Given the description of an element on the screen output the (x, y) to click on. 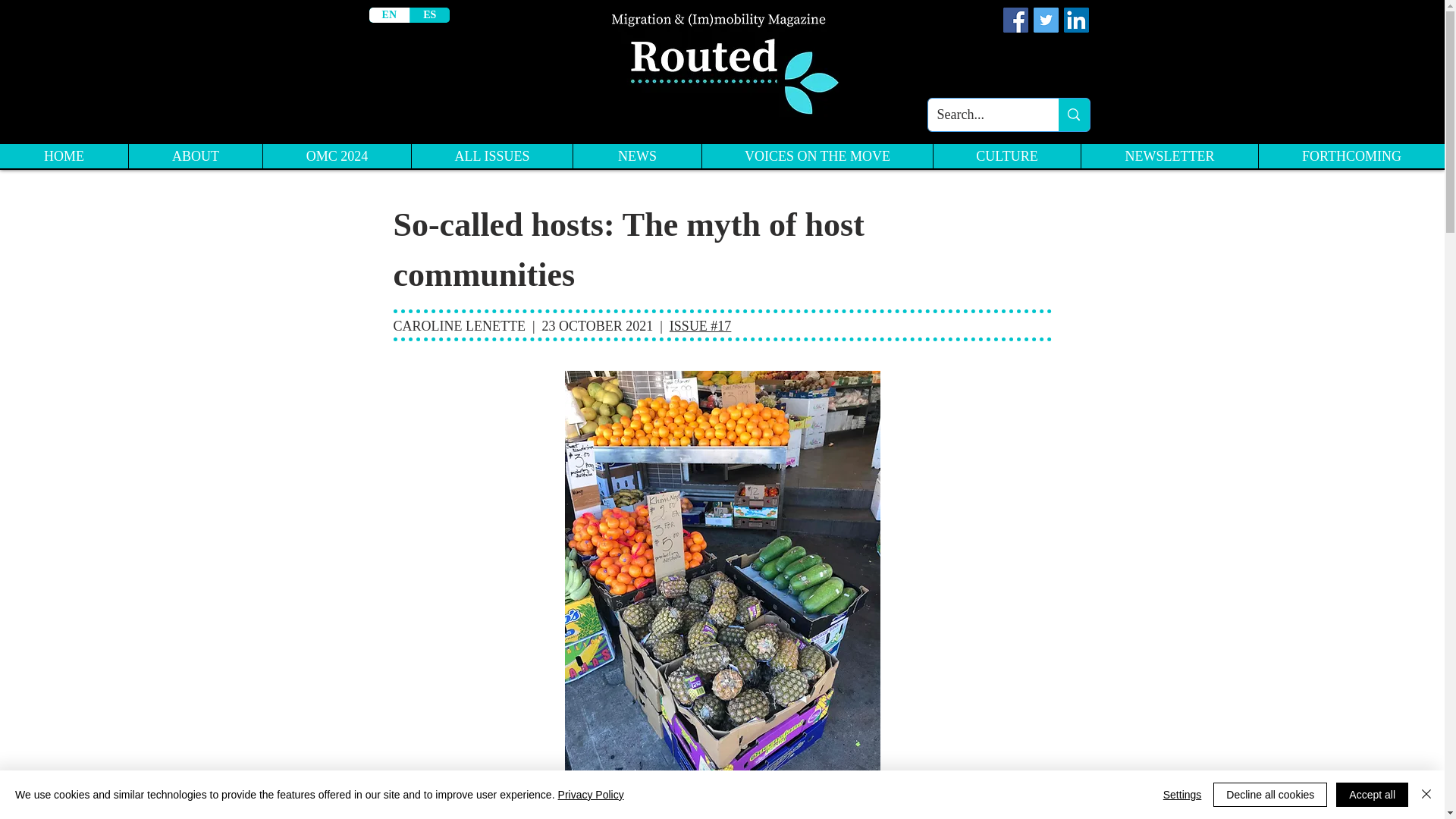
OMC 2024 (336, 156)
EN (388, 14)
CULTURE (1006, 156)
ES (428, 14)
HOME (64, 156)
NEWS (636, 156)
ALL ISSUES (491, 156)
NEWSLETTER (1168, 156)
VOICES ON THE MOVE (817, 156)
ABOUT (195, 156)
